Given the description of an element on the screen output the (x, y) to click on. 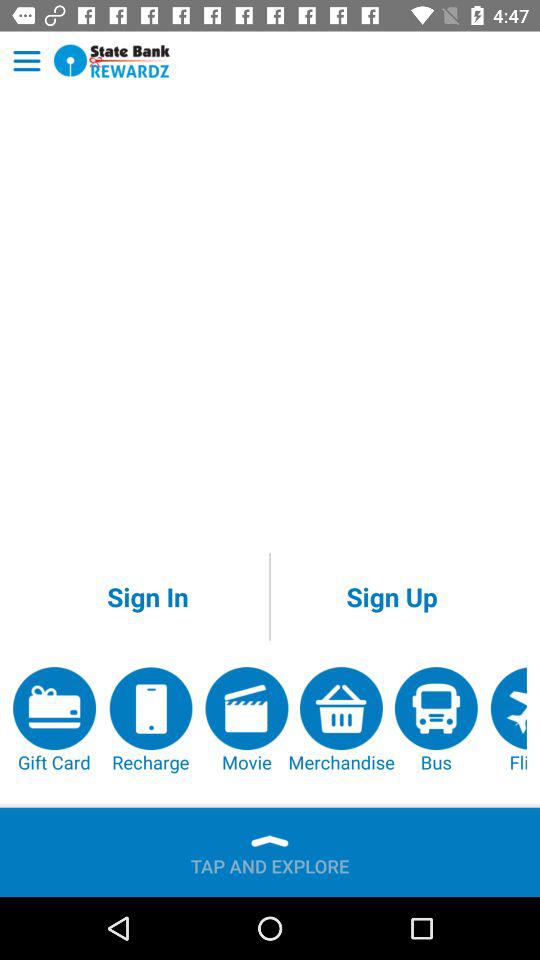
jump to the bus app (435, 720)
